Given the description of an element on the screen output the (x, y) to click on. 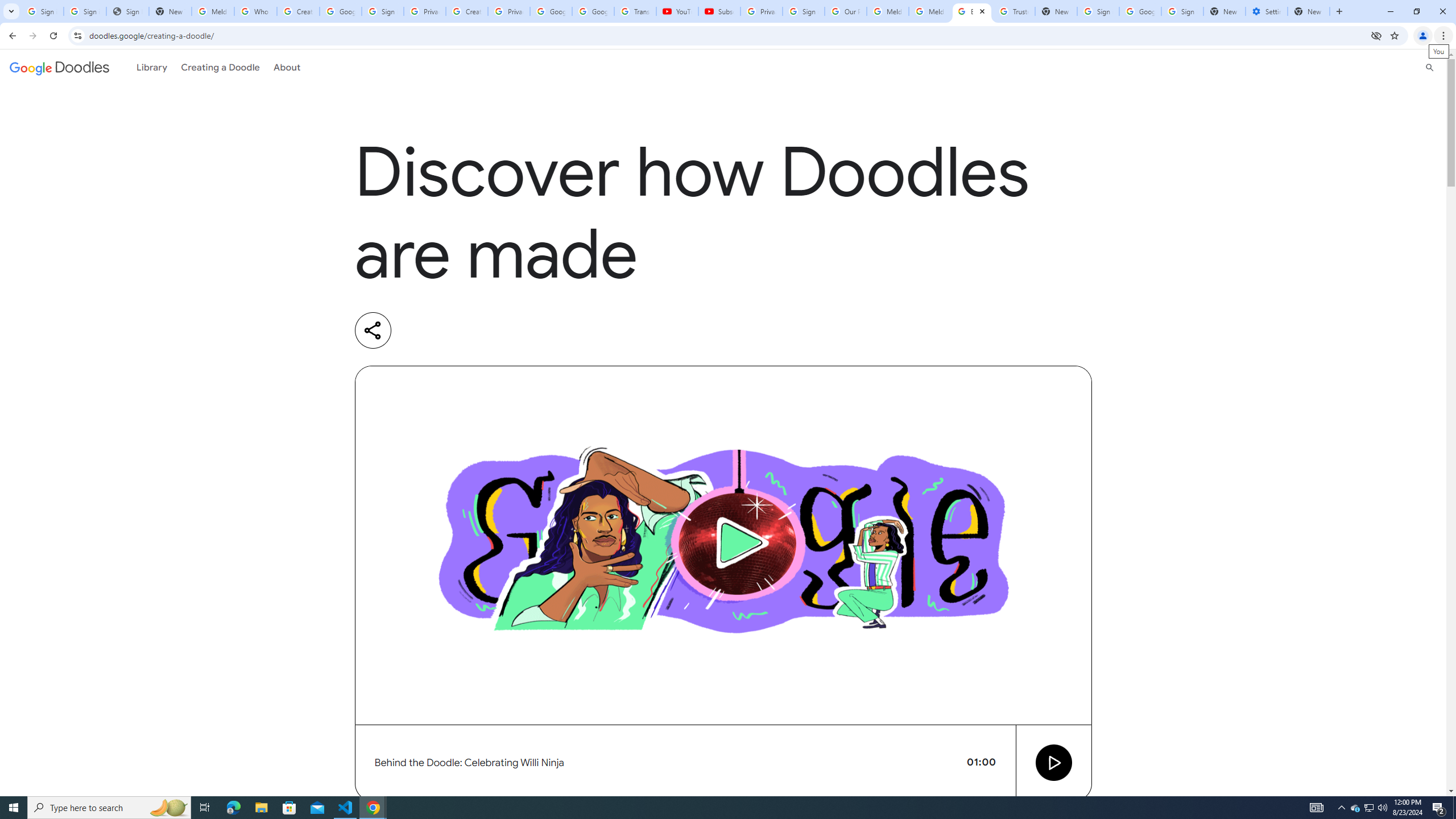
New Tab (1308, 11)
Create your Google Account (298, 11)
Create your Google Account (467, 11)
Video preview image (722, 545)
Share (372, 330)
Share on Linkedin (419, 330)
